Given the description of an element on the screen output the (x, y) to click on. 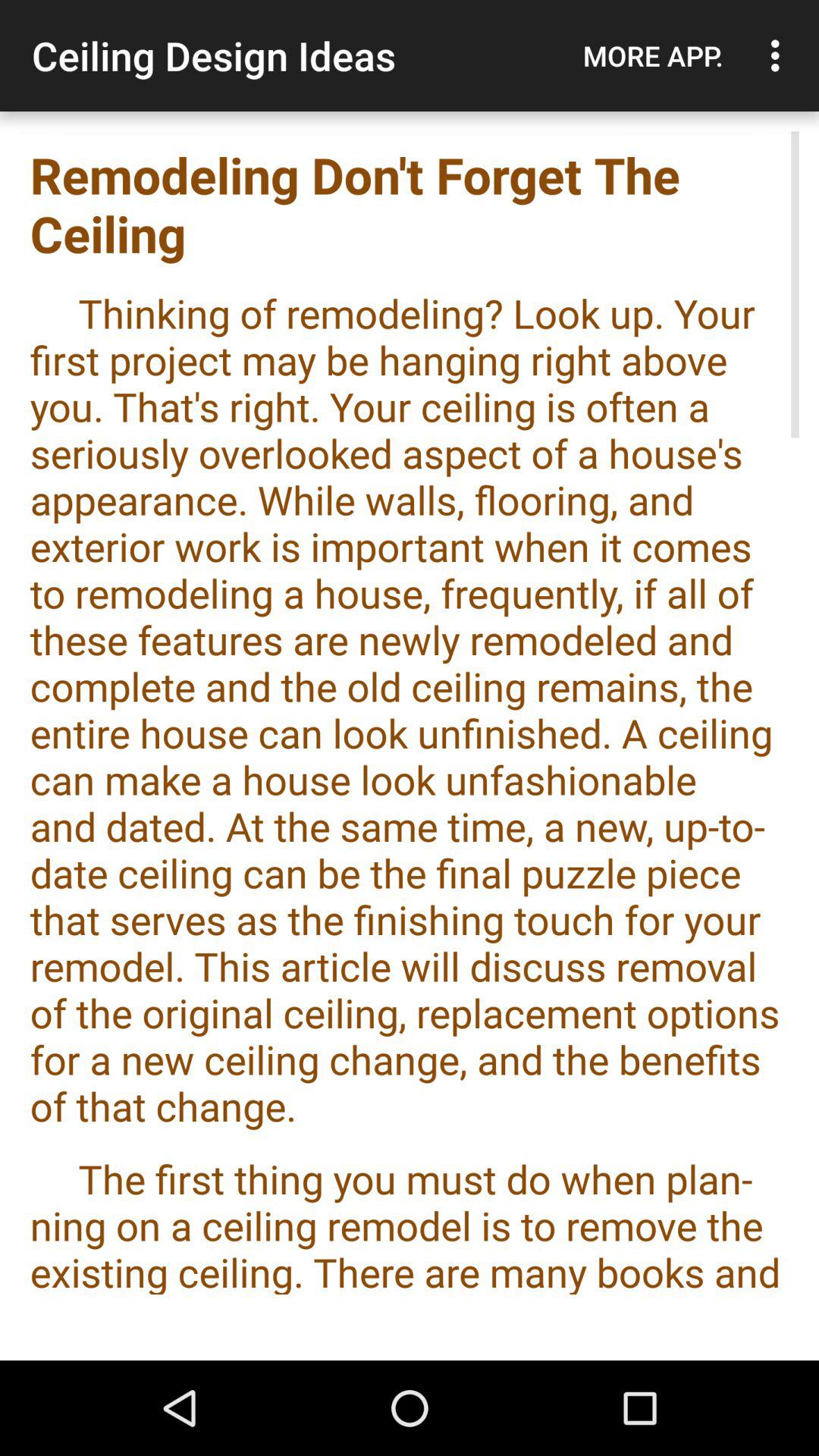
jump until more app. item (653, 55)
